Given the description of an element on the screen output the (x, y) to click on. 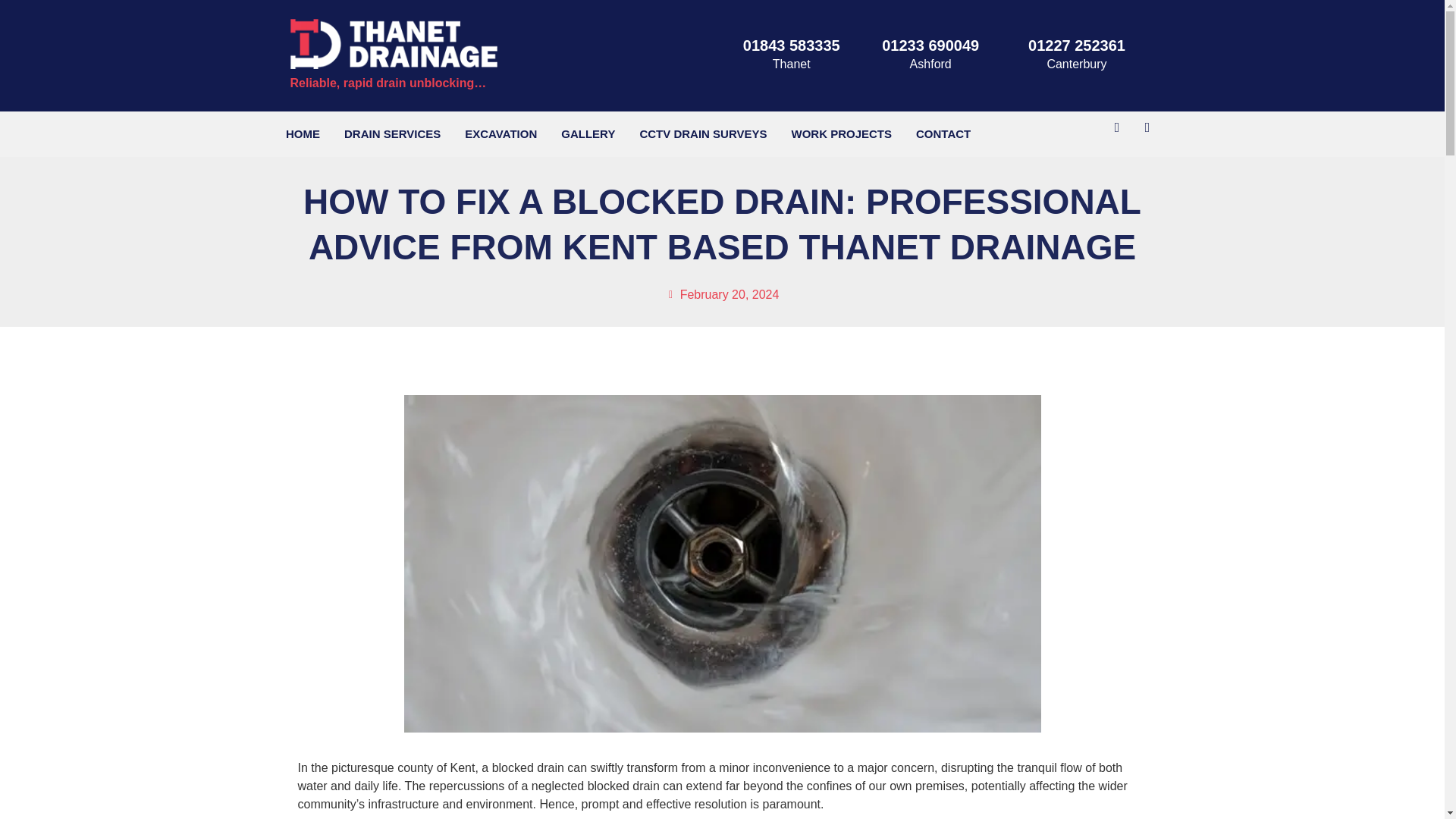
EXCAVATION (500, 134)
CCTV DRAIN SURVEYS (702, 134)
01843 583335 (791, 45)
GALLERY (587, 134)
DRAIN SERVICES (391, 134)
HOME (302, 134)
01233 690049 (930, 45)
CONTACT (943, 134)
WORK PROJECTS (841, 134)
February 20, 2024 (721, 294)
